Given the description of an element on the screen output the (x, y) to click on. 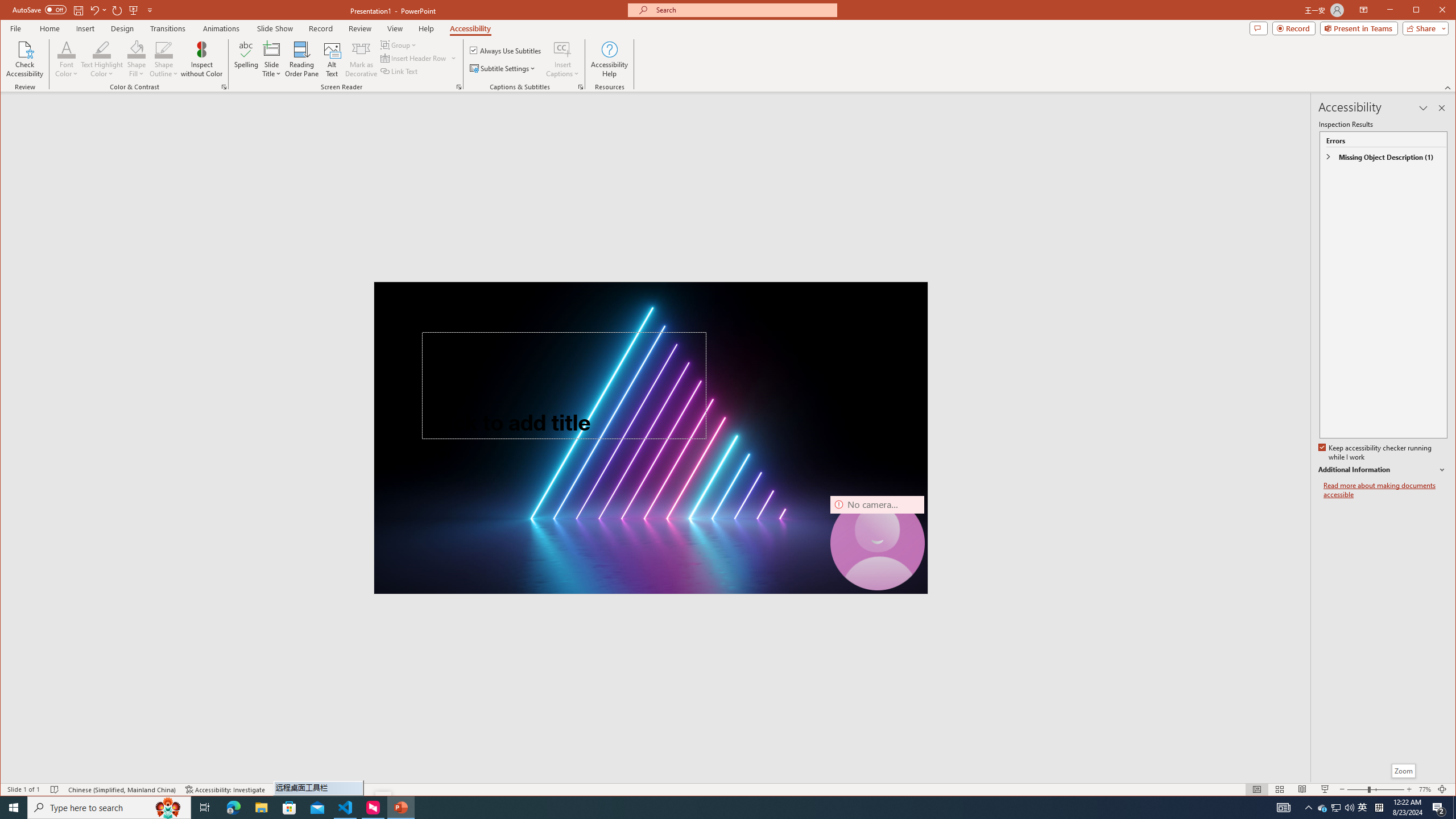
Screen Reader (458, 86)
